Given the description of an element on the screen output the (x, y) to click on. 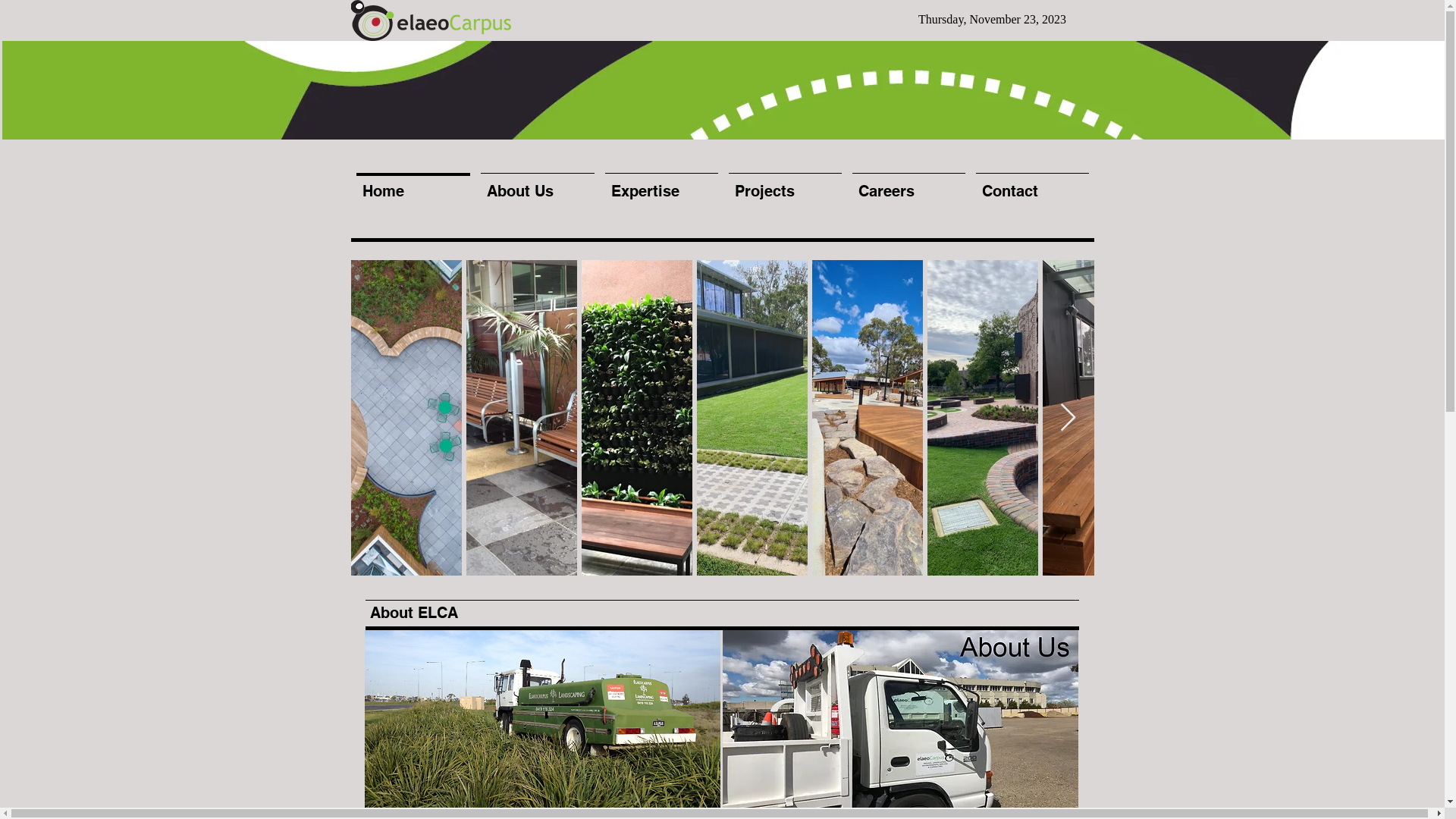
Expertise Element type: text (660, 183)
Projects Element type: text (785, 183)
Careers Element type: text (907, 183)
Embedded Content Element type: hover (997, 20)
About Us Element type: text (536, 183)
Home Element type: text (412, 183)
Contact Element type: text (1032, 183)
